Given the description of an element on the screen output the (x, y) to click on. 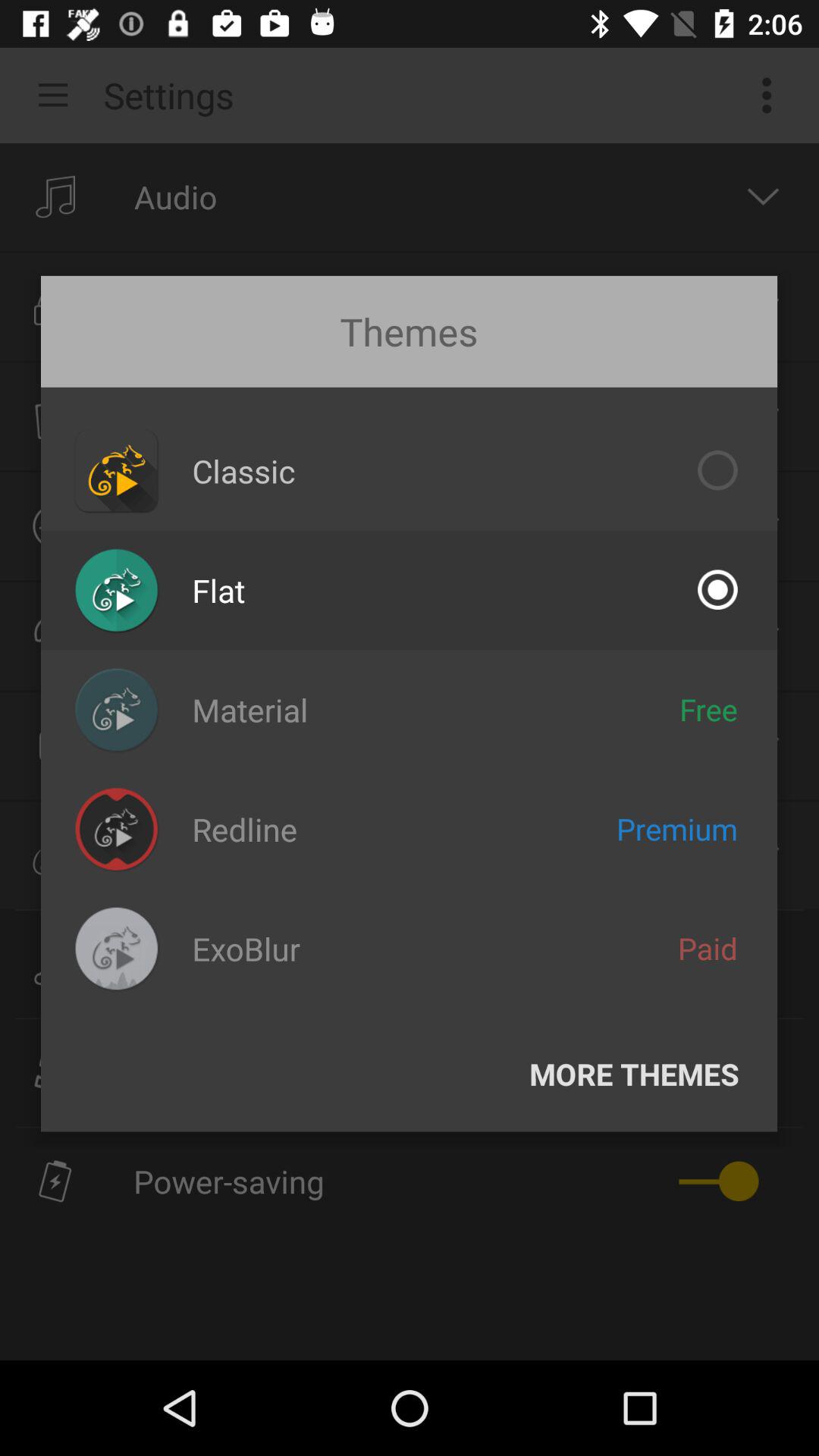
open the classic (243, 470)
